Given the description of an element on the screen output the (x, y) to click on. 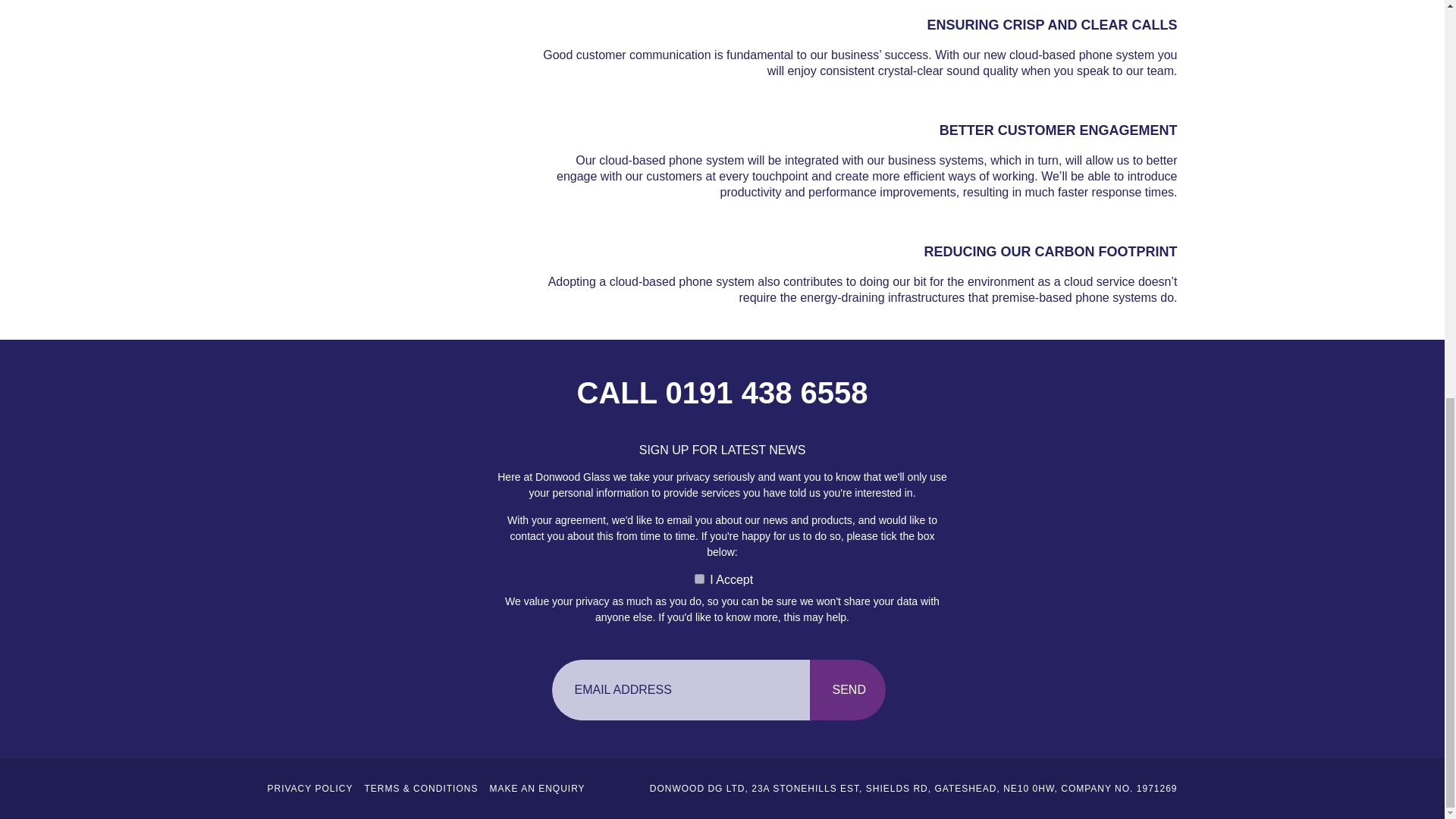
CALL 0191 438 6558 (721, 392)
SEND (847, 690)
PRIVACY POLICY (309, 787)
1186623 (699, 578)
MAKE AN ENQUIRY (537, 787)
